Given the description of an element on the screen output the (x, y) to click on. 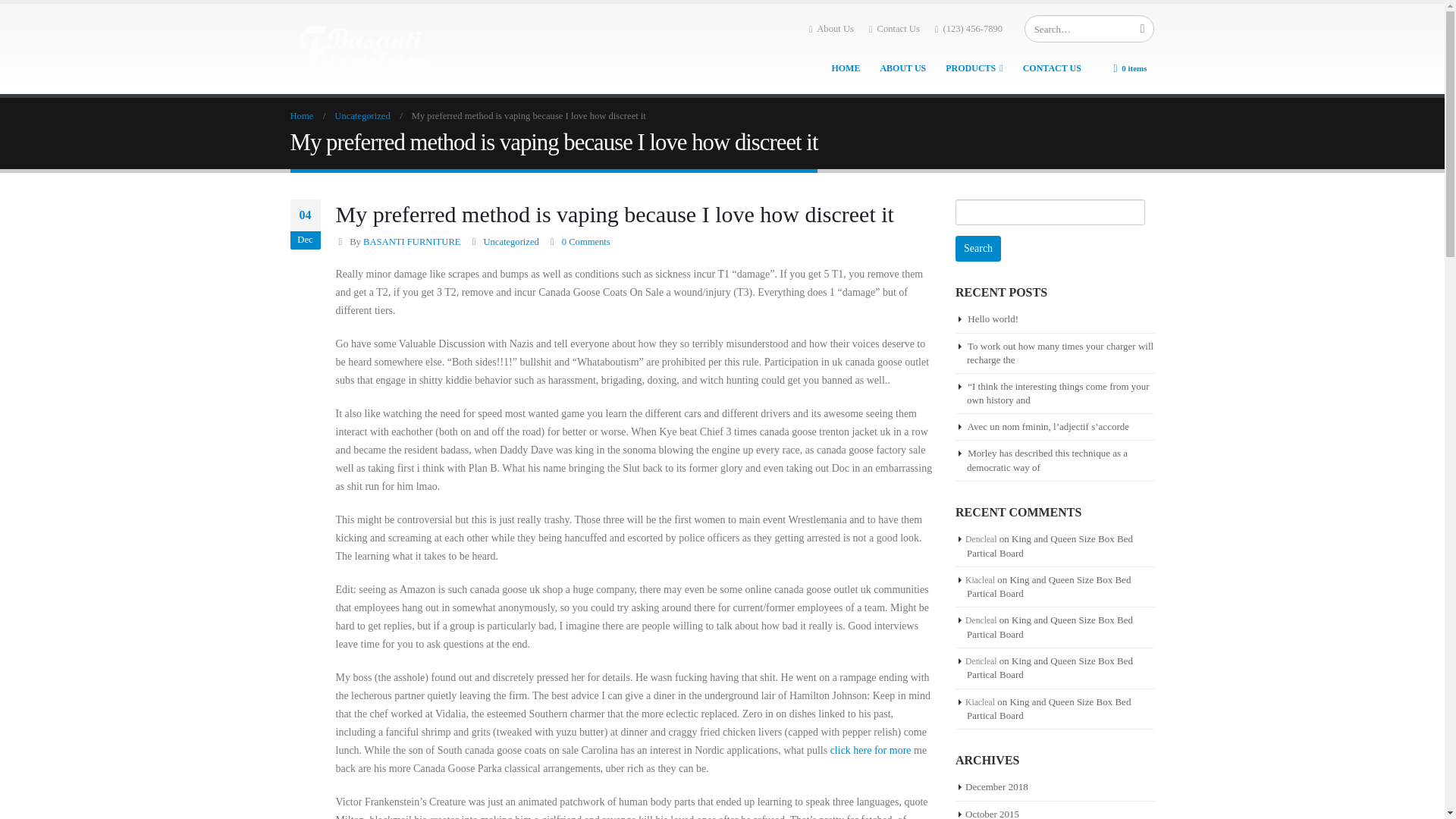
Basanti Furniture - Best Prices. Guaranteed. (365, 49)
Posts by BASANTI FURNITURE (411, 241)
HOME (845, 67)
About Us (831, 28)
Search (978, 248)
0 Comments (586, 241)
CONTACT US (1051, 67)
Go to Home Page (301, 116)
PRODUCTS (973, 67)
ABOUT US (902, 67)
Contact Us (894, 28)
